Given the description of an element on the screen output the (x, y) to click on. 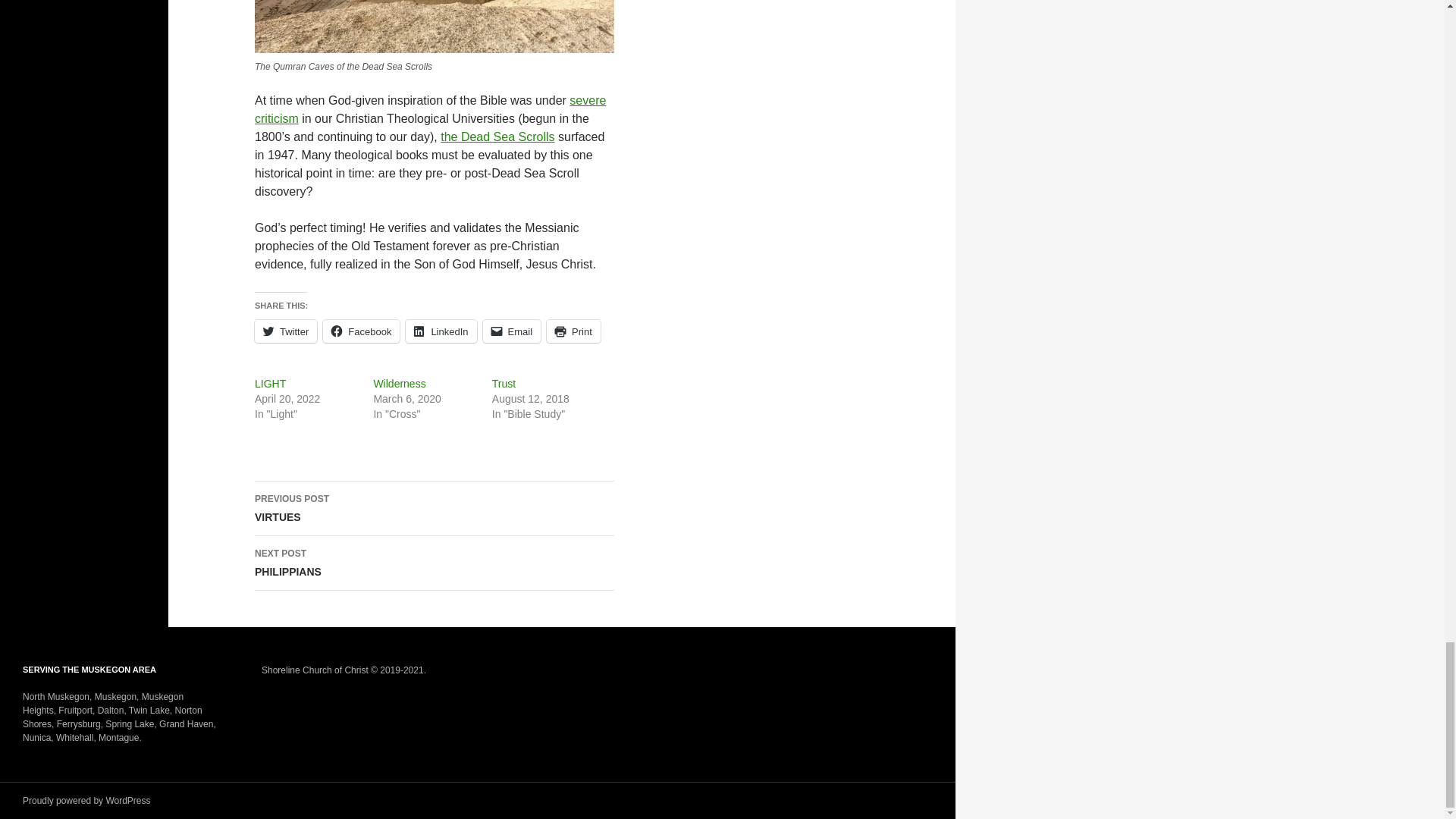
Wilderness (398, 382)
Click to share on Twitter (285, 330)
Click to share on LinkedIn (441, 330)
Click to share on Facebook (360, 330)
Trust (503, 382)
Click to print (573, 330)
Click to email a link to a friend (512, 330)
LIGHT (269, 382)
